Given the description of an element on the screen output the (x, y) to click on. 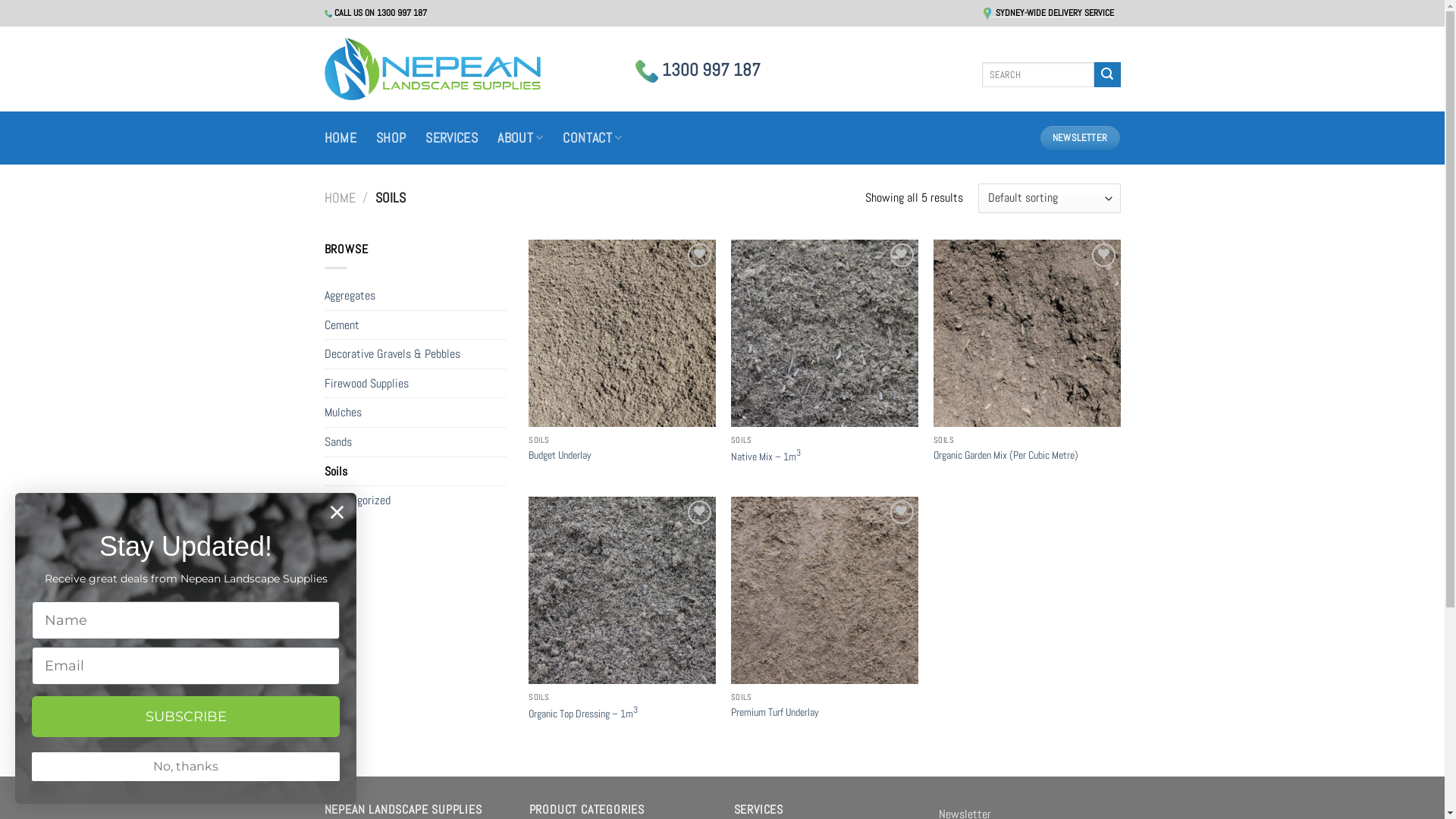
Decorative Gravels & Pebbles Element type: text (415, 353)
Premium Turf Underlay Element type: text (775, 712)
Uncategorized Element type: text (415, 500)
Submit Element type: text (33, 14)
1300 997 187 Element type: text (697, 69)
Search Element type: text (1107, 74)
Soils Element type: text (415, 471)
HOME Element type: text (340, 137)
HOME Element type: text (339, 197)
ABOUT Element type: text (519, 137)
Cement Element type: text (415, 324)
SHOP Element type: text (390, 137)
Budget Underlay Element type: text (559, 455)
SUBSCRIBE Element type: text (185, 716)
  SYDNEY-WIDE DELIVERY SERVICE Element type: text (1048, 12)
Organic Garden Mix (Per Cubic Metre) Element type: text (1005, 455)
Sands Element type: text (415, 441)
SERVICES Element type: text (451, 137)
Firewood Supplies Element type: text (415, 383)
NEWSLETTER Element type: text (1079, 137)
Mulches Element type: text (415, 412)
CONTACT Element type: text (591, 137)
Aggregates Element type: text (415, 295)
CALL US ON 1300 997 187 Element type: text (375, 12)
No, thanks Element type: text (185, 766)
